Given the description of an element on the screen output the (x, y) to click on. 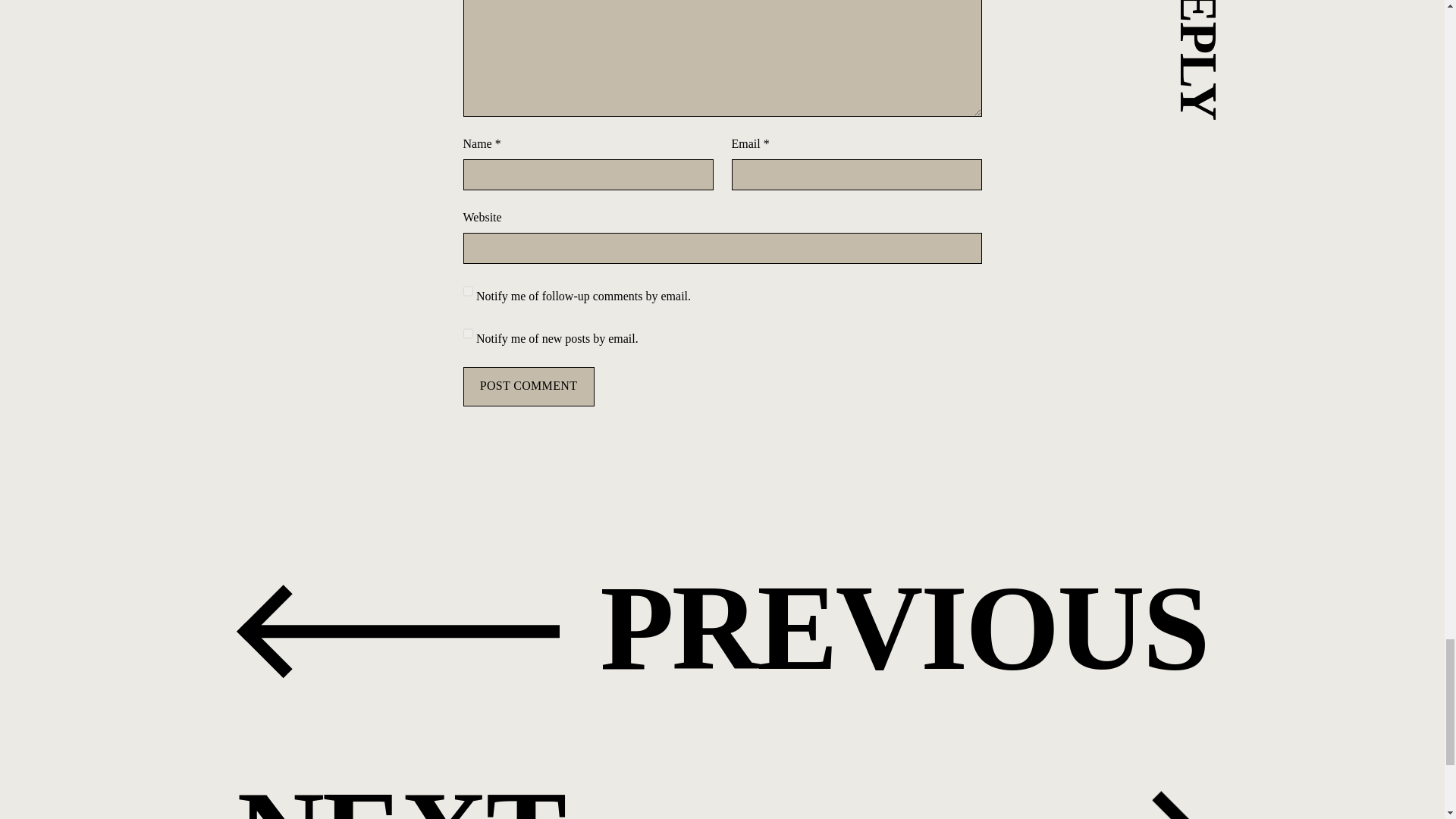
Post Comment (528, 386)
